Given the description of an element on the screen output the (x, y) to click on. 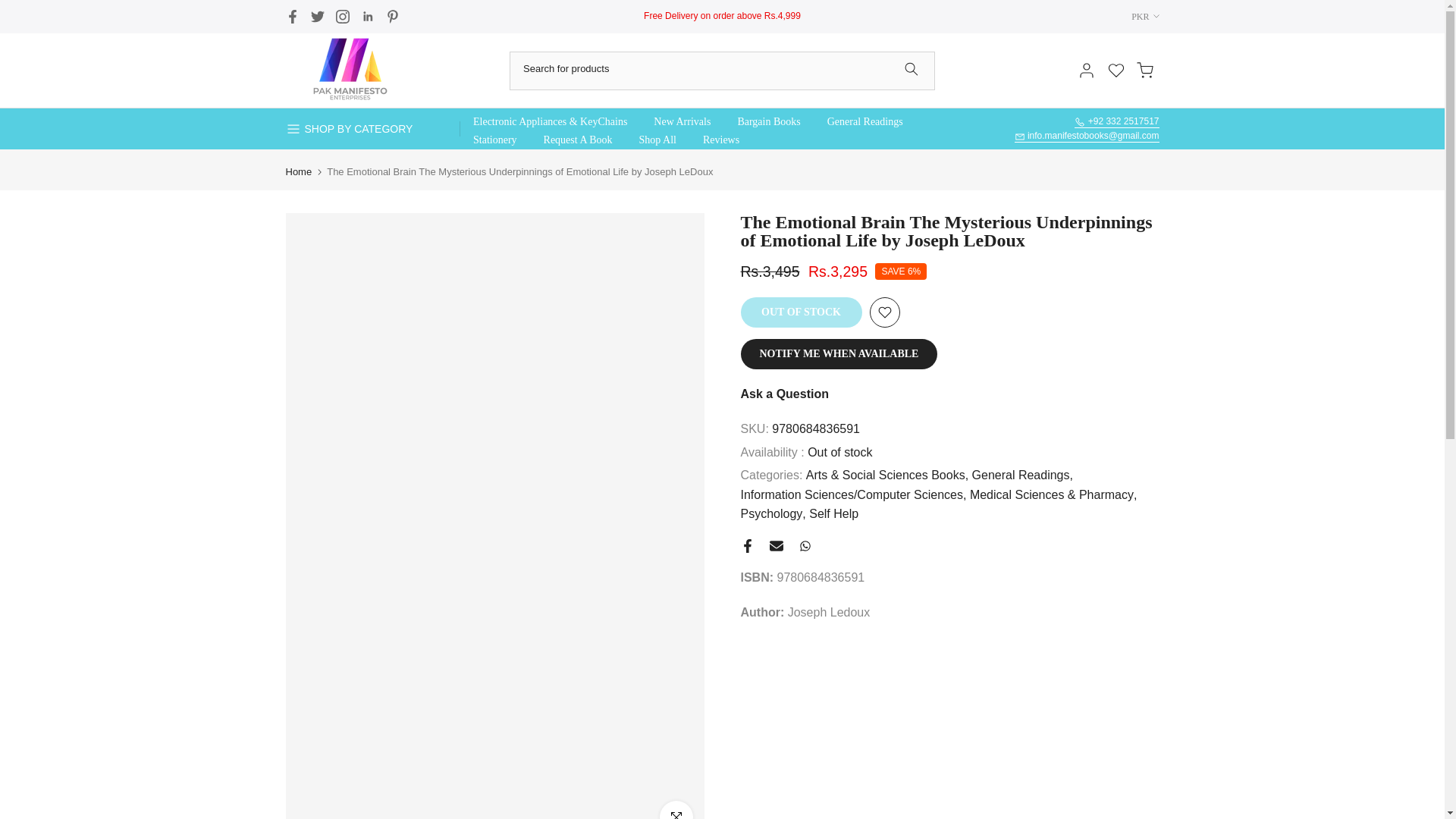
Share on Email (775, 545)
Share on Facebook (746, 545)
Follow on Instagram (341, 16)
Follow on Pinterest (391, 16)
Home (298, 171)
Stationery (494, 140)
PKR (1137, 16)
General Readings (1022, 475)
Shop All (657, 140)
New Arrivals (681, 122)
Skip to content (10, 7)
NOTIFY ME WHEN AVAILABLE (838, 354)
Psychology (772, 514)
Reviews (720, 140)
Follow on Facebook (291, 16)
